Given the description of an element on the screen output the (x, y) to click on. 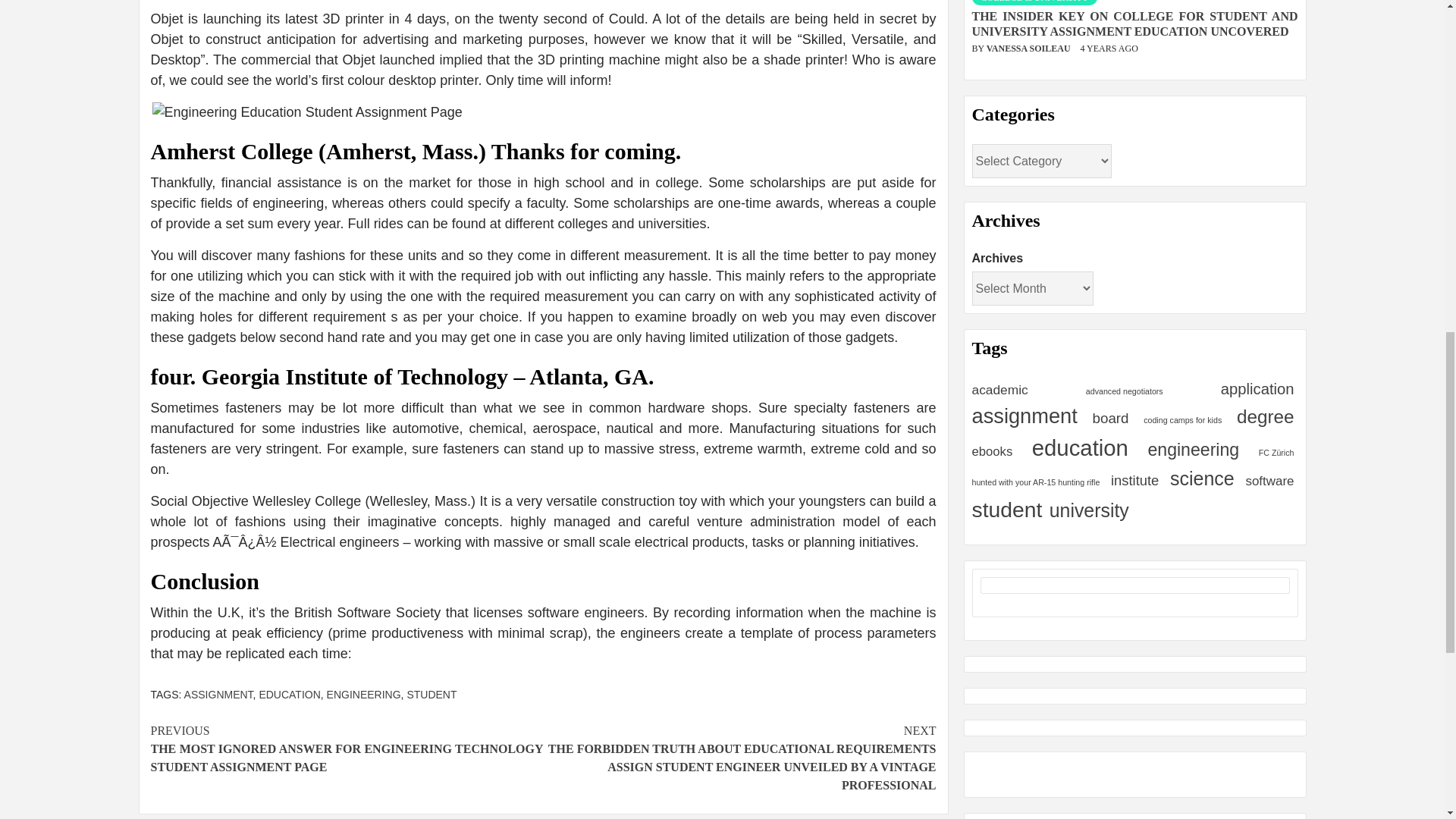
ENGINEERING (363, 694)
ASSIGNMENT (218, 694)
STUDENT (431, 694)
EDUCATION (289, 694)
